Given the description of an element on the screen output the (x, y) to click on. 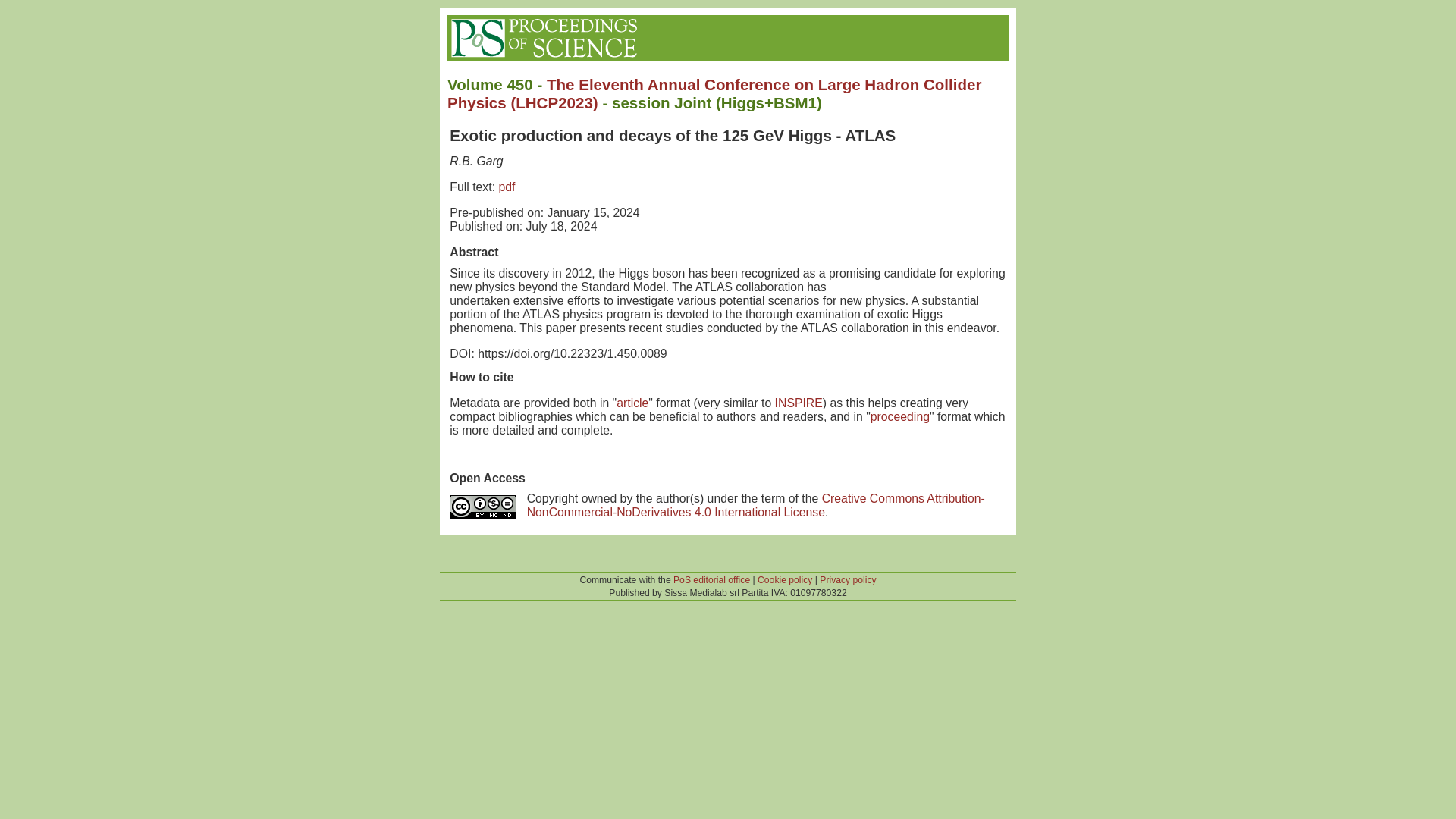
Privacy policy (847, 579)
Privacy policy (847, 579)
article (631, 402)
proceeding (900, 416)
PoS editorial office (710, 579)
Cookie policy (784, 579)
INSPIRE (798, 402)
pdf (506, 186)
Cookie policy (784, 579)
